Given the description of an element on the screen output the (x, y) to click on. 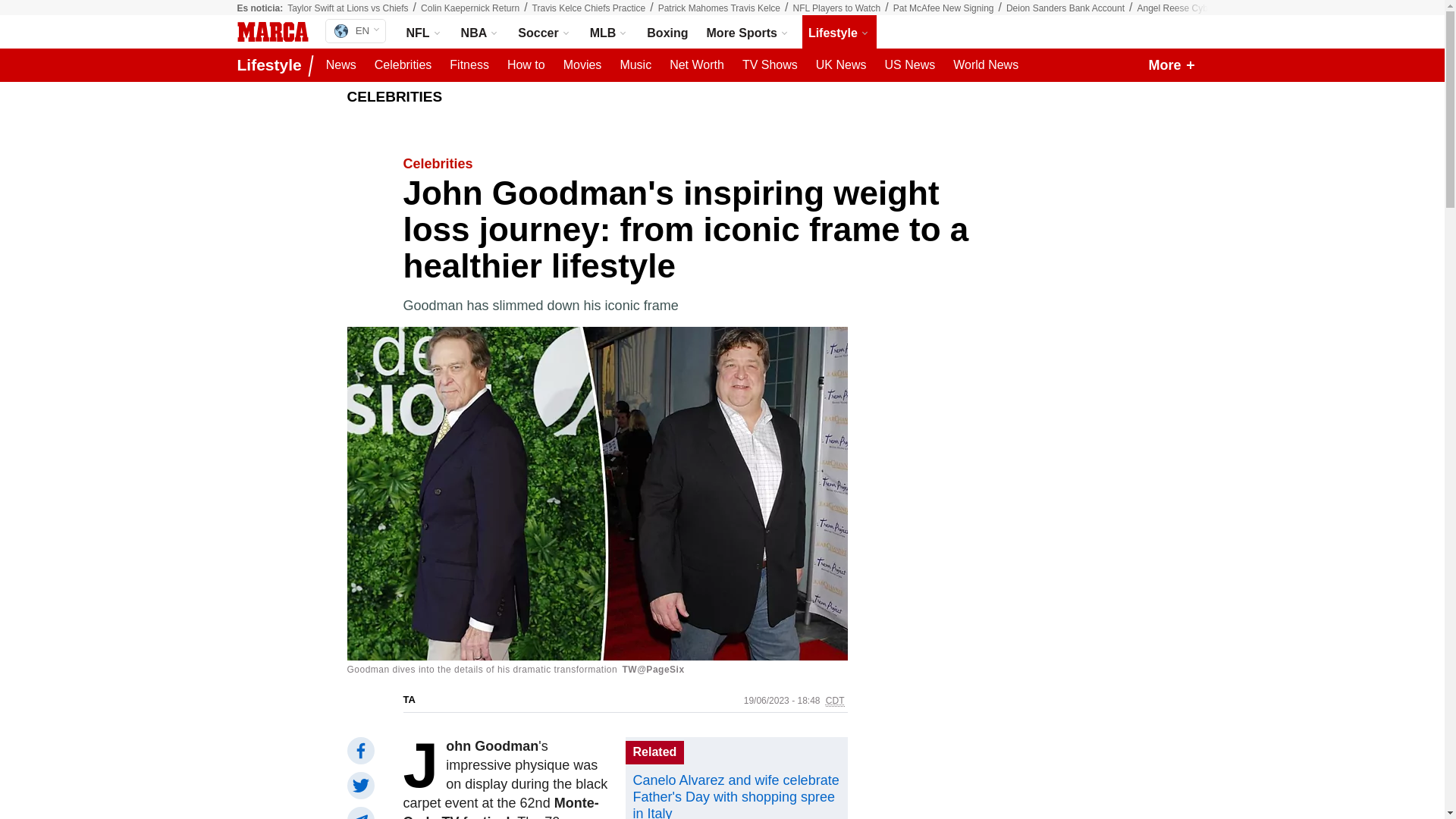
Boxing (667, 31)
Fitness (469, 64)
UK News (840, 64)
News (341, 64)
US News (908, 64)
Music (635, 64)
Boxing (667, 31)
Portada de Marca (271, 31)
Deion Sanders Bank Account (1065, 8)
MLB (608, 31)
